Given the description of an element on the screen output the (x, y) to click on. 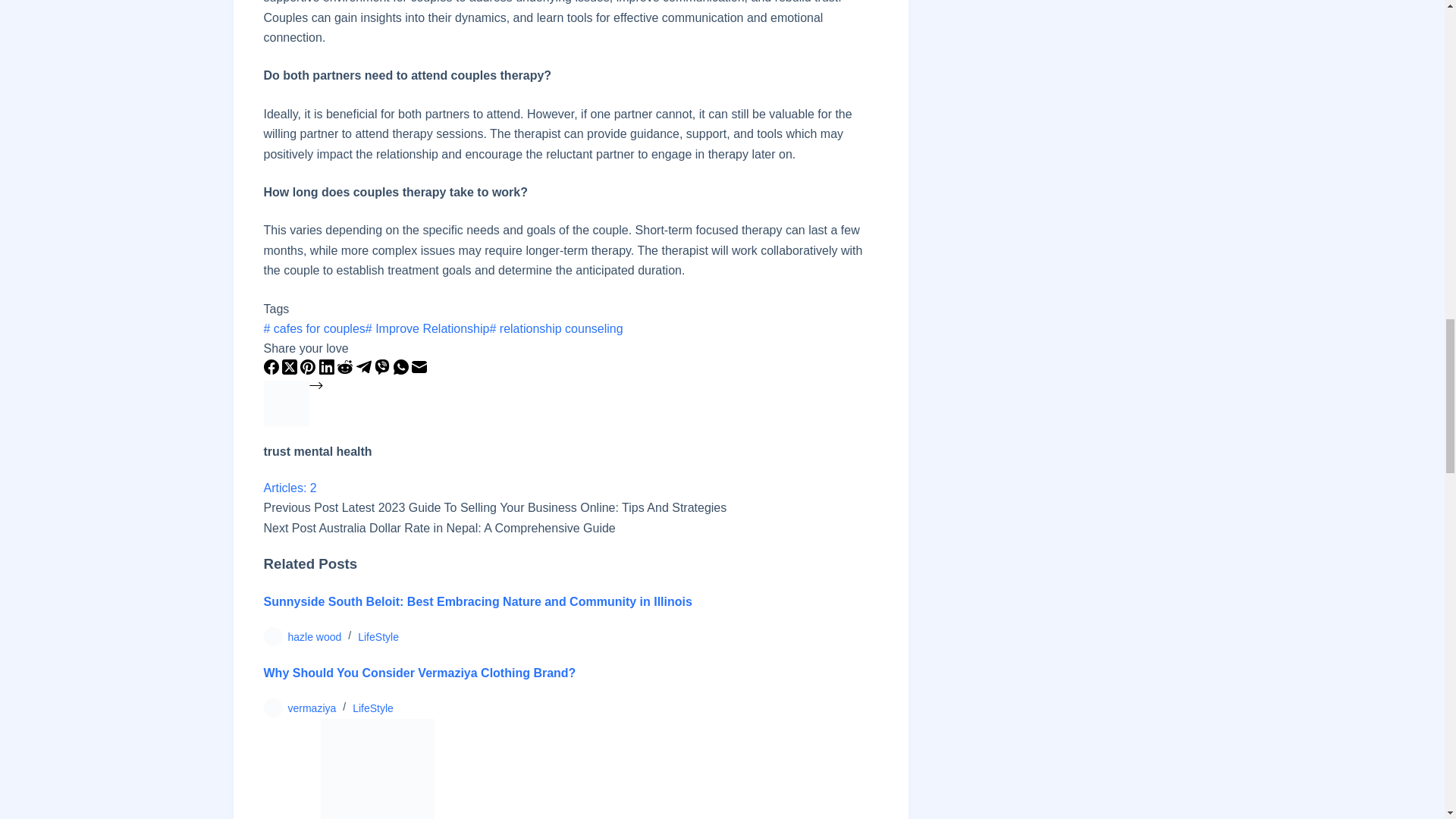
Posts by hazle wood (315, 636)
Posts by vermaziya (312, 707)
